Given the description of an element on the screen output the (x, y) to click on. 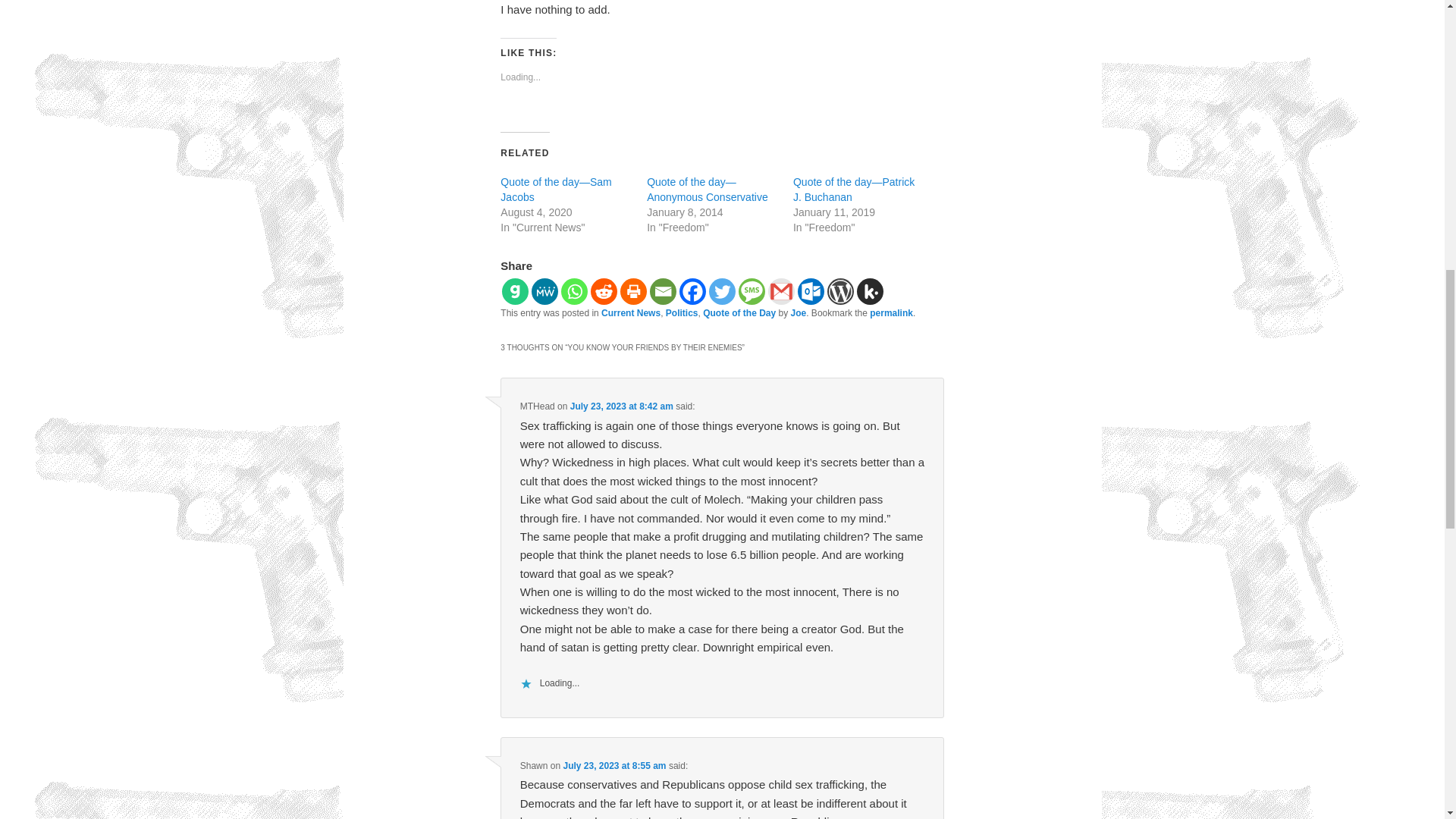
July 23, 2023 at 8:42 am (621, 406)
Email (663, 291)
Whatsapp (574, 291)
MeWe (544, 291)
Gab (515, 291)
Facebook (692, 291)
Quote of the Day (739, 312)
Print (633, 291)
Politics (681, 312)
permalink (890, 312)
